Given the description of an element on the screen output the (x, y) to click on. 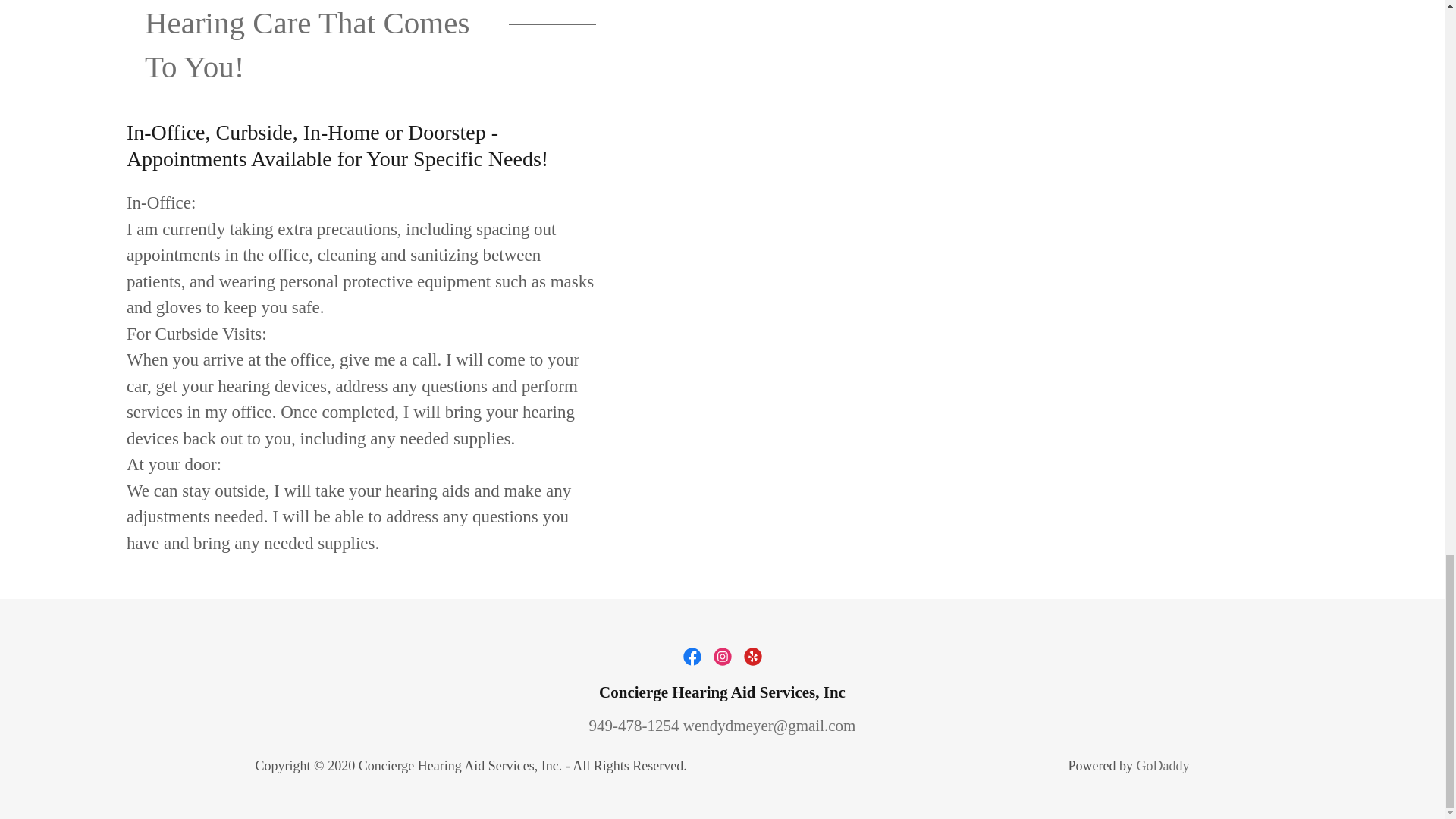
949-478-1254 (634, 725)
GoDaddy (1162, 765)
